Given the description of an element on the screen output the (x, y) to click on. 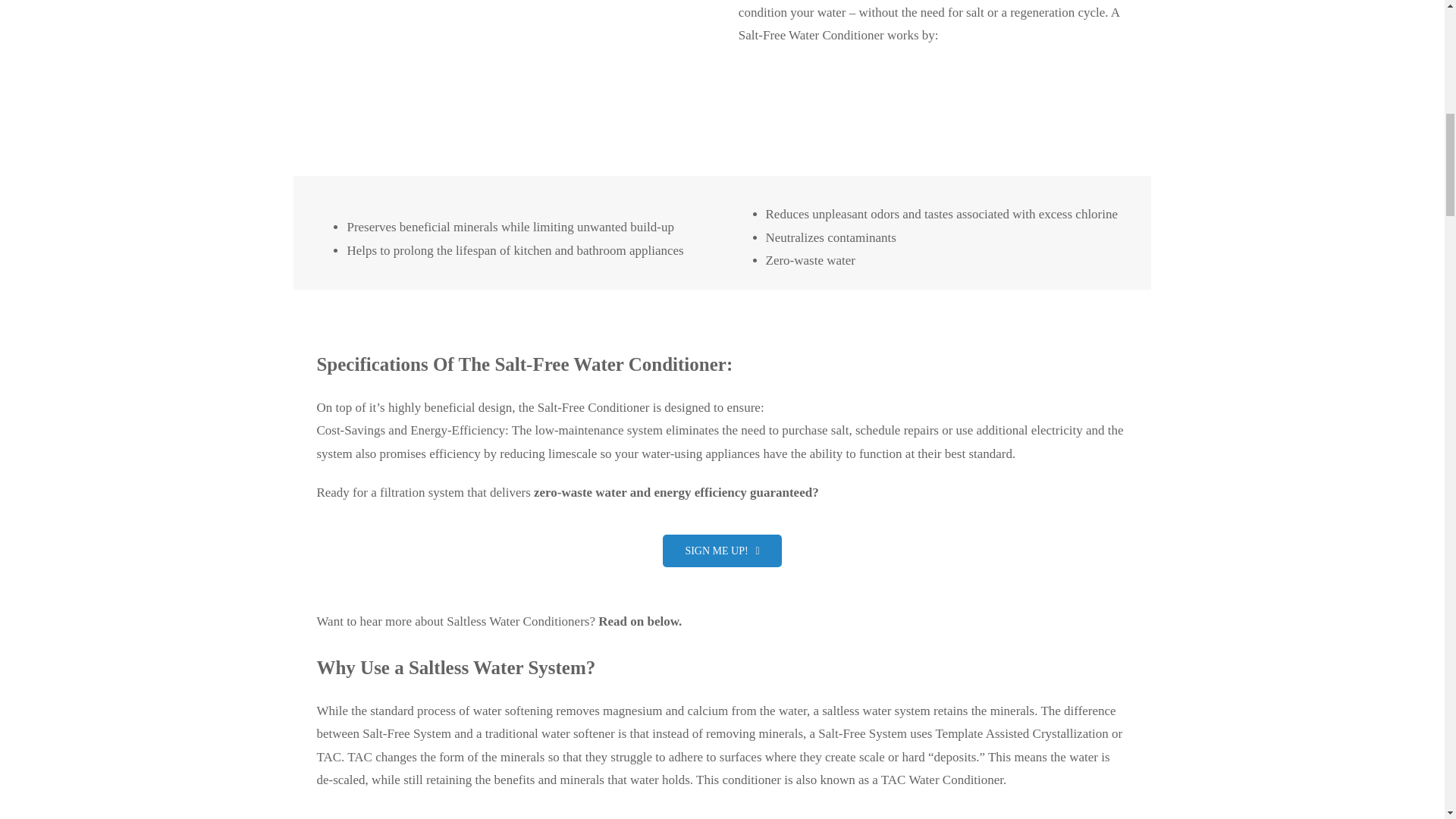
SaltFree-Gray-Front-Top optimized (510, 69)
